Given the description of an element on the screen output the (x, y) to click on. 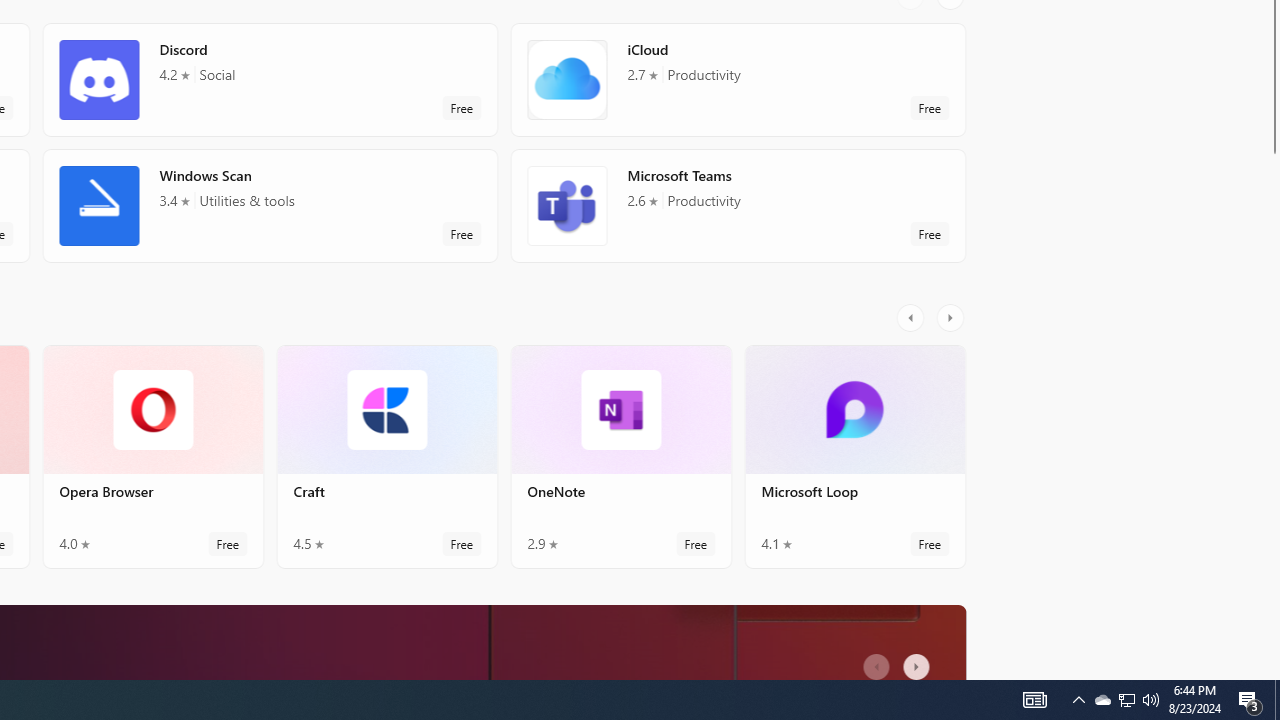
Discord. Average rating of 4.2 out of five stars. Free   (269, 79)
iCloud. Average rating of 2.7 out of five stars. Free   (737, 79)
AutomationID: RightScrollButton (919, 659)
Vertical Large Increase (1272, 411)
AutomationID: LeftScrollButton (878, 659)
Vertical Small Increase (1272, 672)
